Given the description of an element on the screen output the (x, y) to click on. 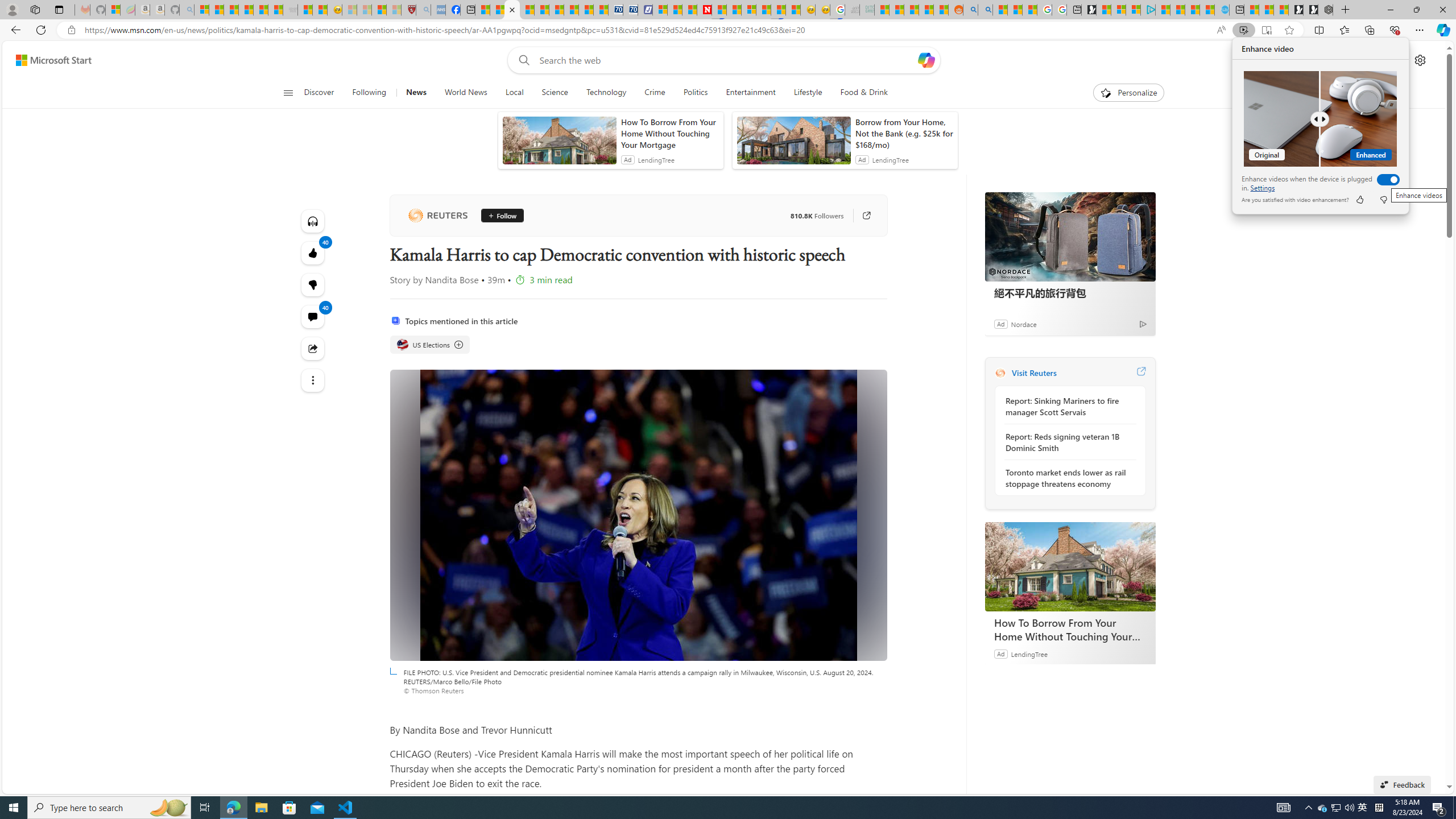
Robert H. Shmerling, MD - Harvard Health (408, 9)
40 (312, 284)
How To Borrow From Your Home Without Touching Your Mortgage (1070, 566)
Science - MSN (378, 9)
Show desktop (1454, 807)
Personal Profile (12, 9)
Enter your search term (726, 59)
Newsweek - News, Analysis, Politics, Business, Technology (703, 9)
Skip to content (49, 59)
14 Common Myths Debunked By Scientific Facts (733, 9)
